Given the description of an element on the screen output the (x, y) to click on. 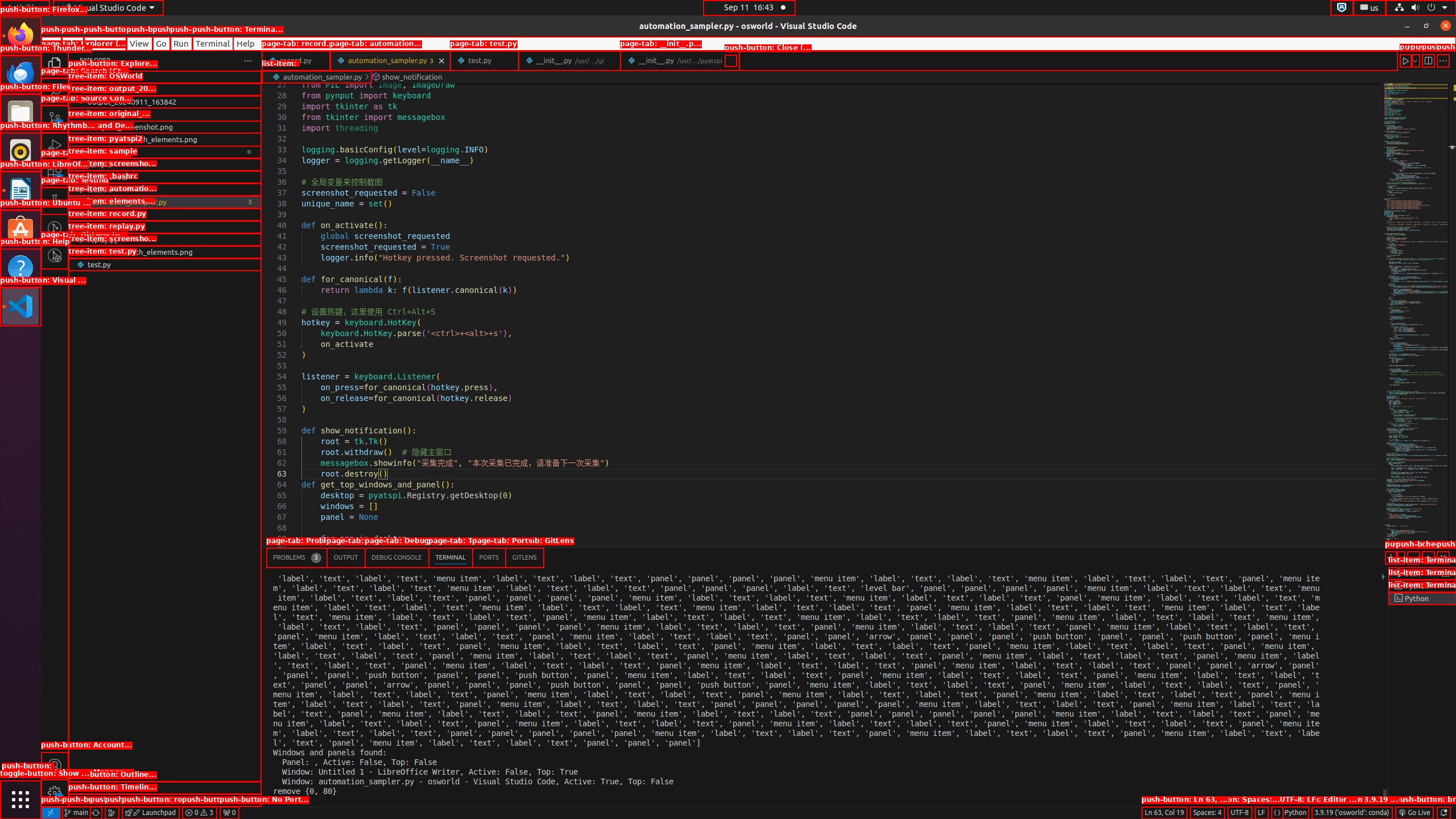
pyatspi2 Element type: tree-item (164, 151)
elements.json Element type: tree-item (164, 214)
GitLens Inspect Element type: page-tab (54, 255)
Ln 63, Col 19 Element type: push-button (1163, 812)
Close (Ctrl+W) Element type: push-button (730, 60)
